Given the description of an element on the screen output the (x, y) to click on. 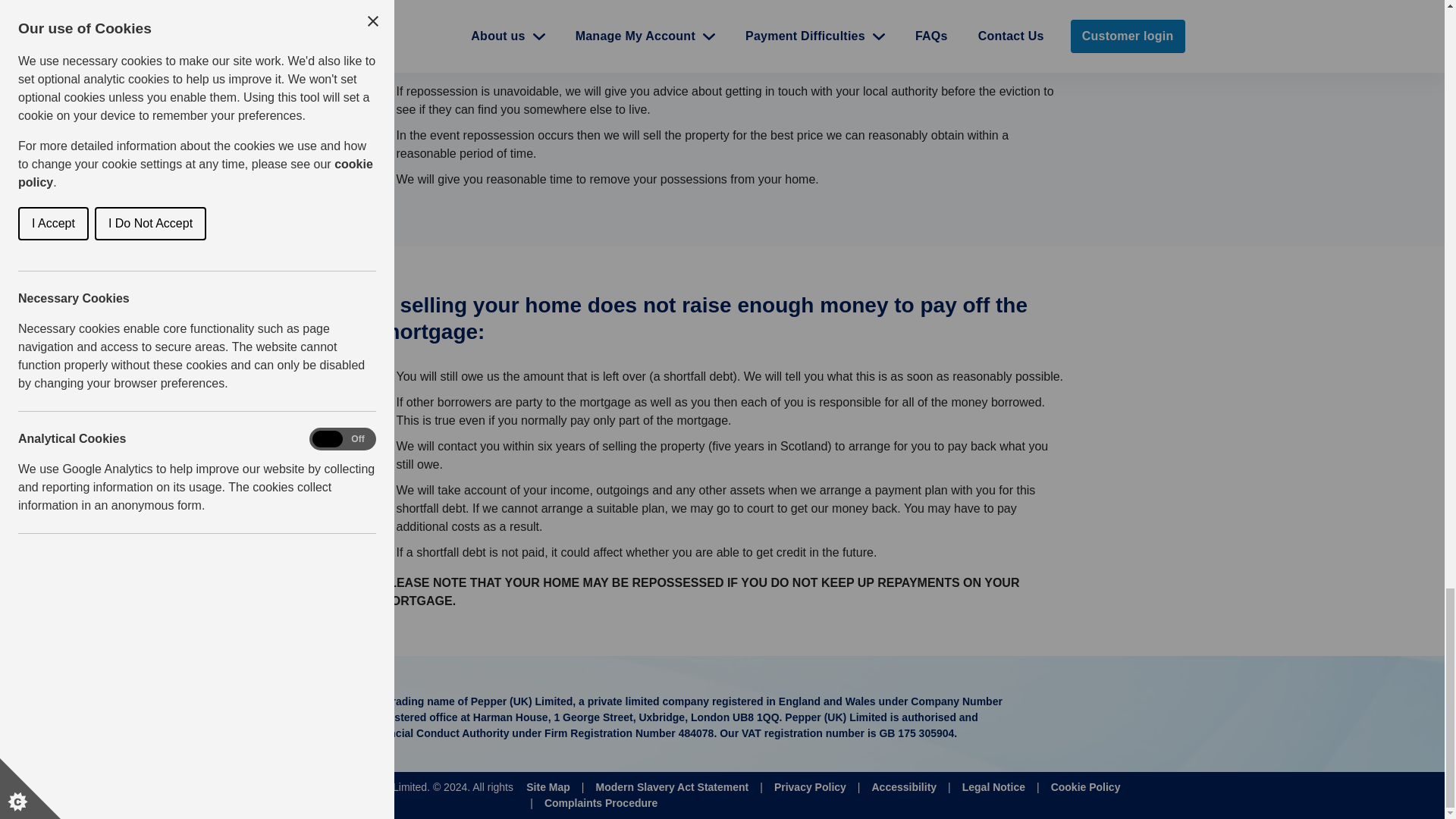
Legal Notice (993, 786)
Modern Slavery Act Statement (671, 786)
Cookie Policy (1085, 786)
Accessibility (903, 786)
Privacy Policy (810, 786)
Complaints Procedure (600, 803)
Site Map (547, 786)
